Given the description of an element on the screen output the (x, y) to click on. 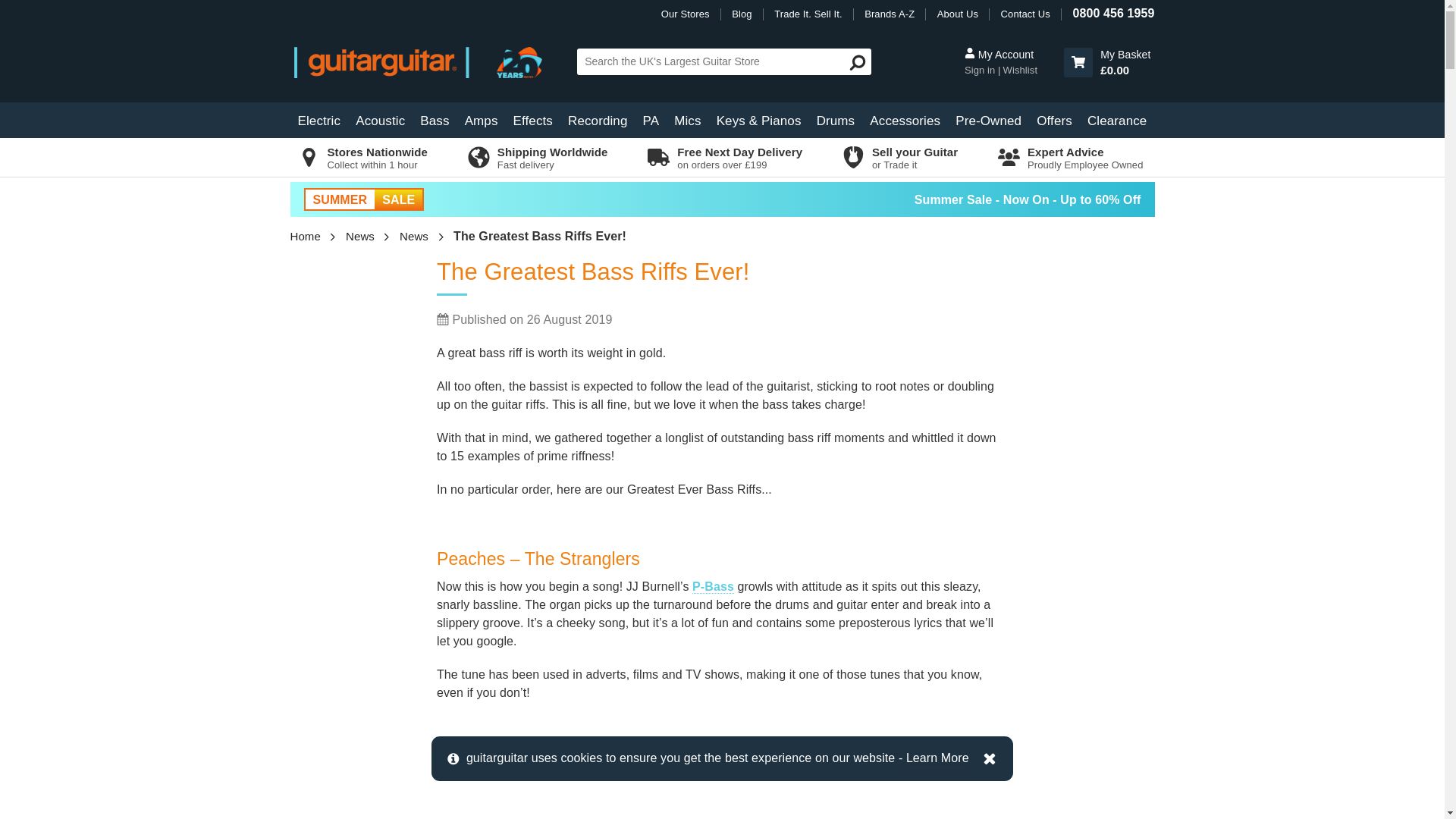
About Us (957, 13)
Contact Us (1025, 13)
0800 456 1959 (1112, 12)
Trade It. Sell It. (807, 13)
Contact Us (1025, 13)
Trade It. Sell It. (807, 13)
Brands A-Z (889, 13)
Our Stores (685, 13)
Electric (318, 120)
guitarguitar (428, 61)
0800 456 1959 (1112, 12)
Brands A-Z (889, 13)
Checkout (1106, 62)
Electric Guitars (318, 120)
About Us (957, 13)
